Given the description of an element on the screen output the (x, y) to click on. 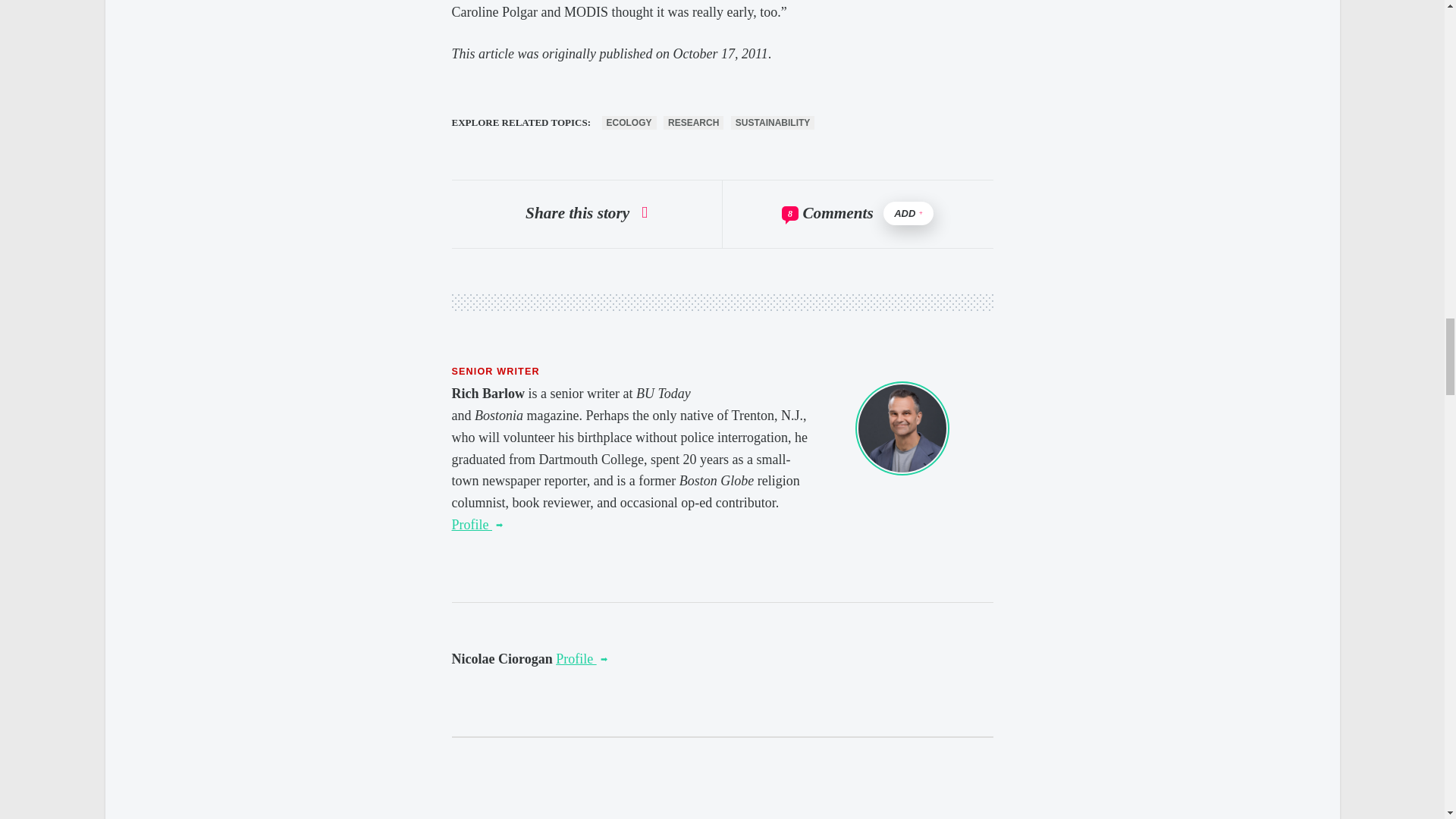
ADD (908, 213)
Watching Climate Change from the Ground and the Heavens (581, 658)
ECOLOGY (629, 122)
RESEARCH (693, 122)
Profile (477, 524)
8 (789, 213)
Watching Climate Change from the Ground and the Heavens (477, 524)
SUSTAINABILITY (771, 122)
Profile (581, 658)
